Given the description of an element on the screen output the (x, y) to click on. 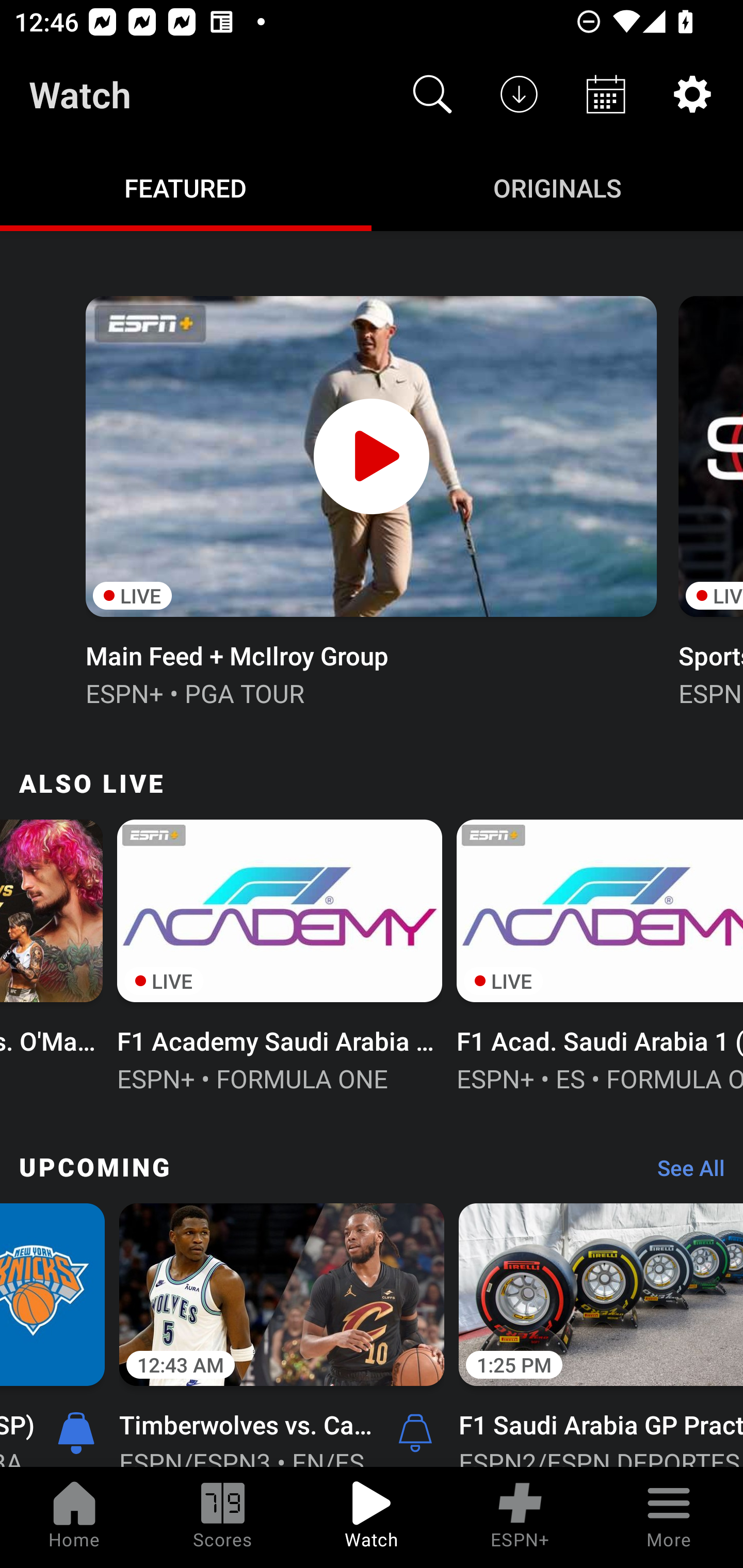
Search (432, 93)
Downloads (518, 93)
Schedule (605, 93)
Settings (692, 93)
Originals ORIGINALS (557, 187)
 LIVE Main Feed + McIlroy Group ESPN+ • PGA TOUR (370, 499)
See All (683, 1172)
Alerts (415, 1432)
Home (74, 1517)
Scores (222, 1517)
ESPN+ (519, 1517)
More (668, 1517)
